Given the description of an element on the screen output the (x, y) to click on. 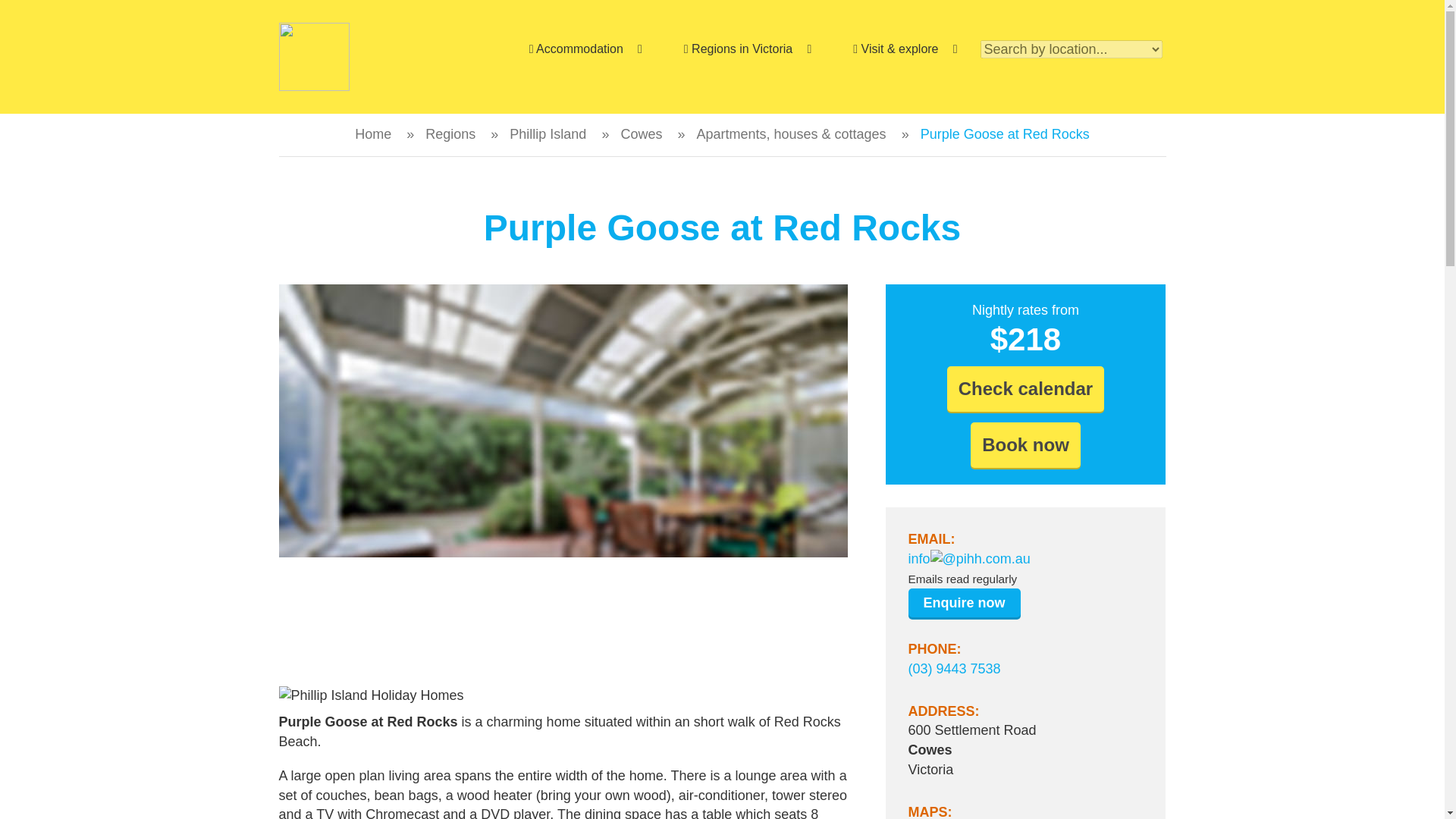
Check calendar (1025, 388)
Regions (450, 133)
Book now (1025, 444)
Accommodation (584, 49)
Regions in Victoria (746, 49)
Phillip Island (547, 133)
Home (373, 133)
Cowes (641, 133)
